Given the description of an element on the screen output the (x, y) to click on. 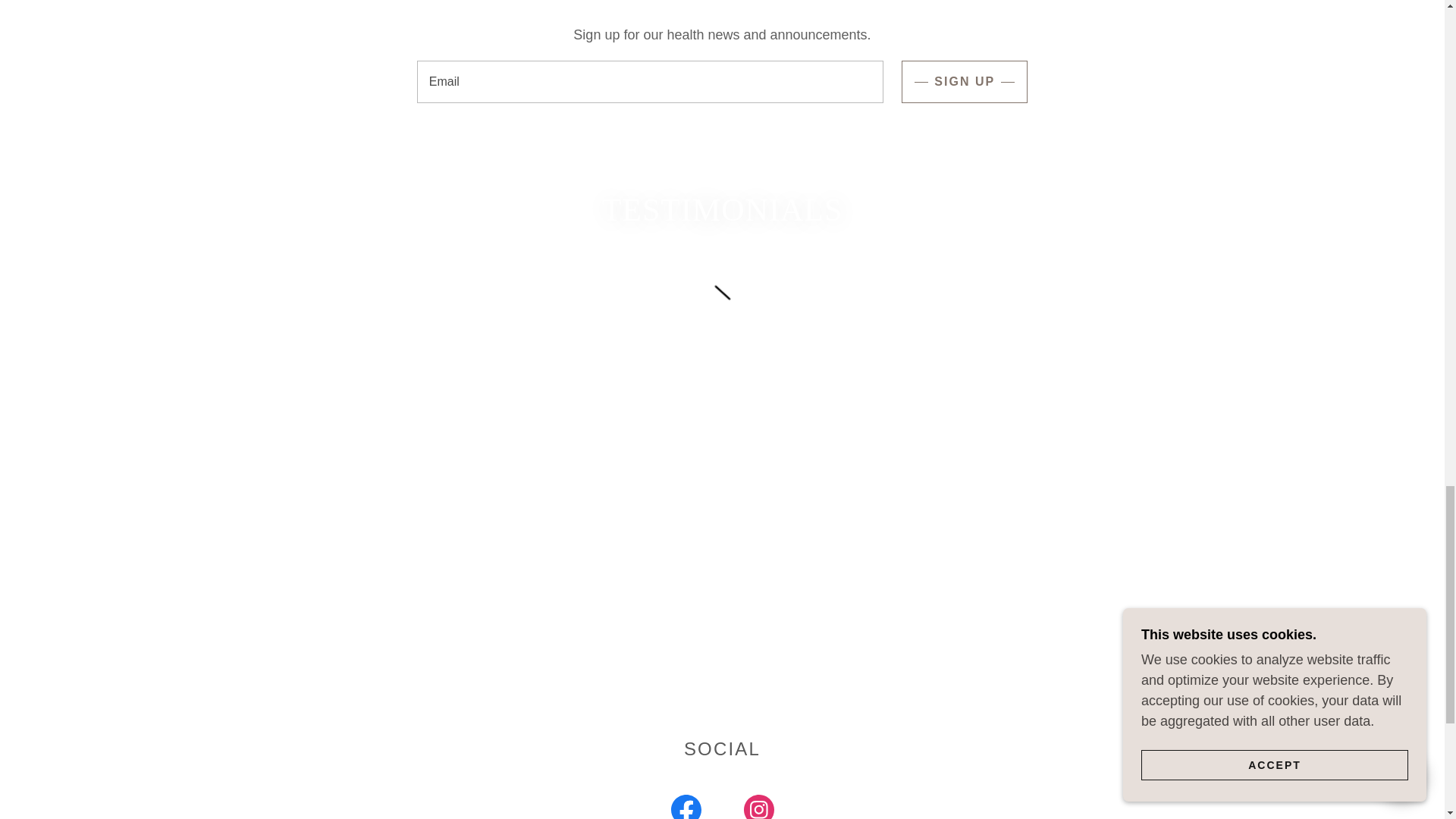
SIGN UP (964, 81)
